Given the description of an element on the screen output the (x, y) to click on. 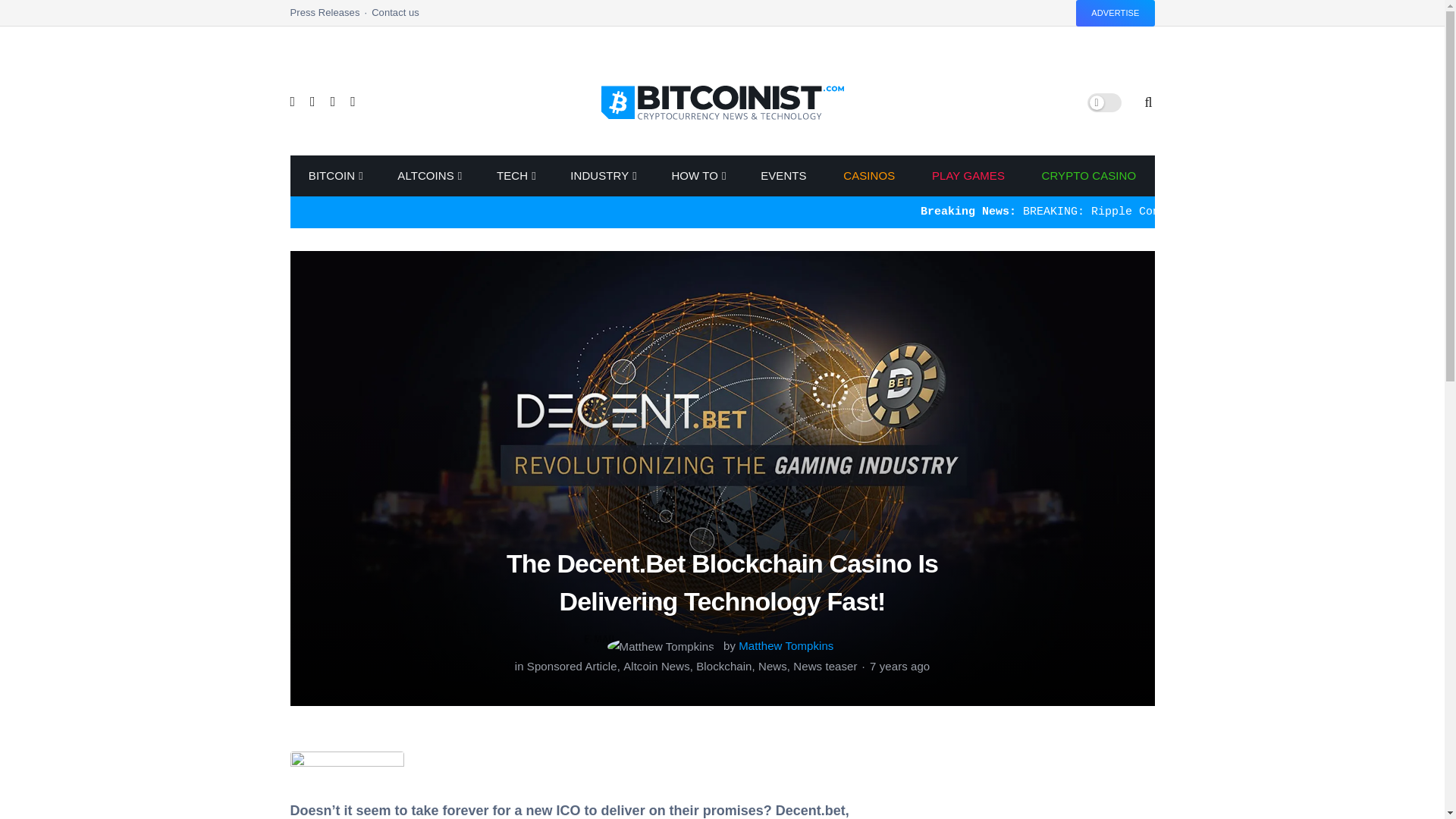
ALTCOINS (428, 175)
ADVERTISE (1114, 13)
BITCOIN (333, 175)
HOW TO (697, 175)
INDUSTRY (601, 175)
TECH (515, 175)
Contact us (395, 17)
Press Releases (330, 17)
